Given the description of an element on the screen output the (x, y) to click on. 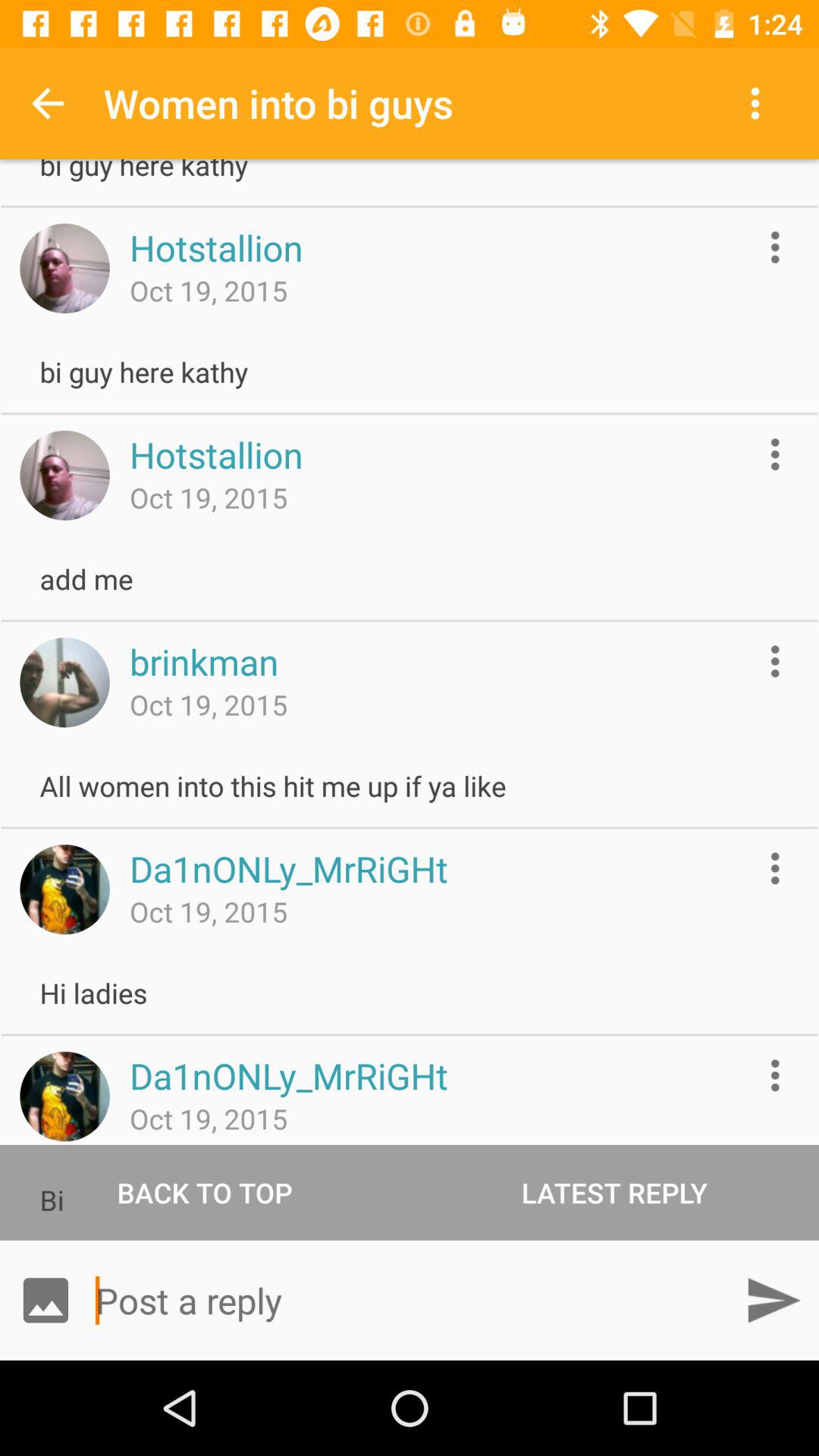
toggle icon (64, 1096)
